Given the description of an element on the screen output the (x, y) to click on. 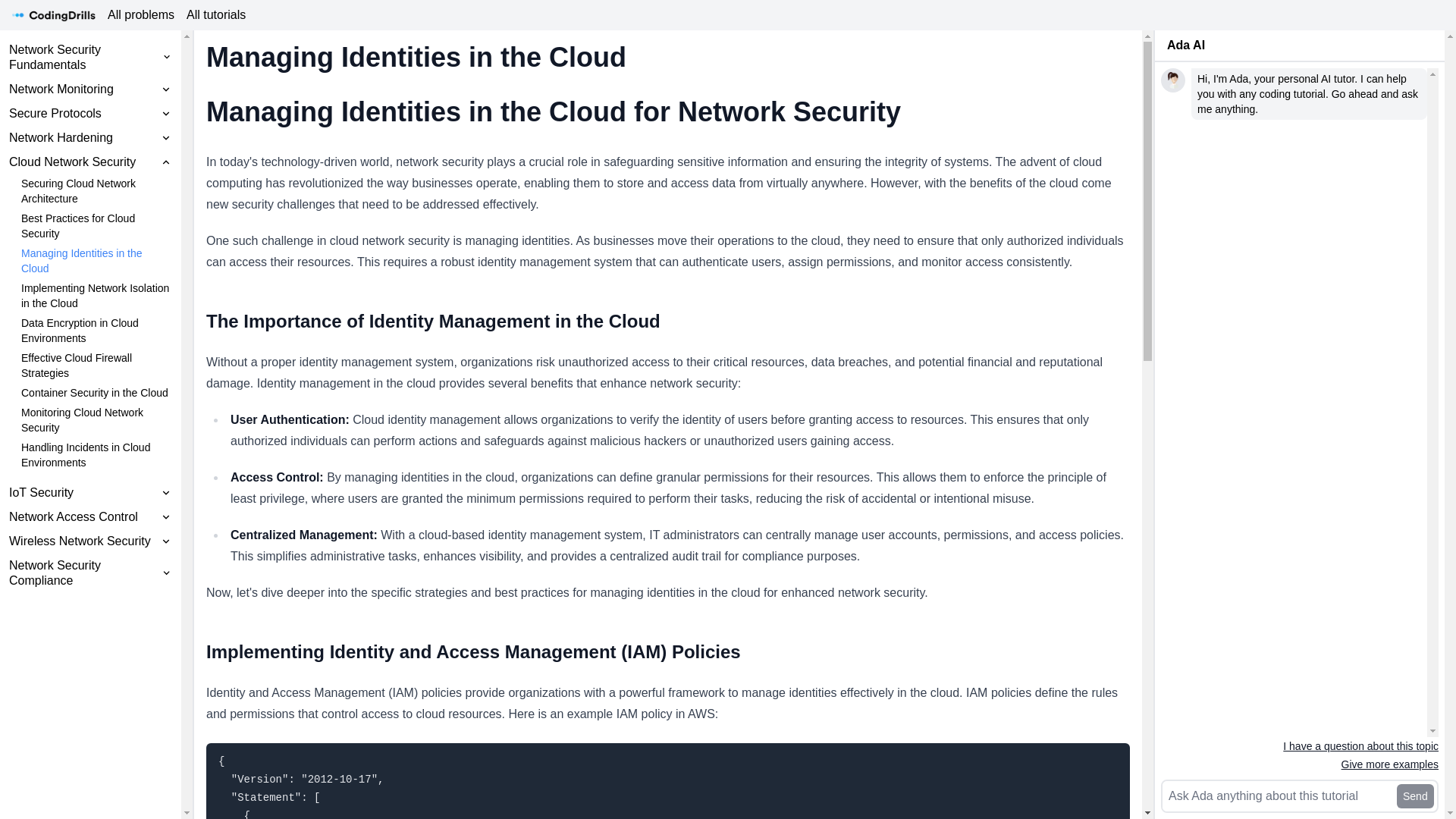
Securing Cloud Network Architecture (96, 191)
All problems (140, 14)
All tutorials (215, 14)
